Given the description of an element on the screen output the (x, y) to click on. 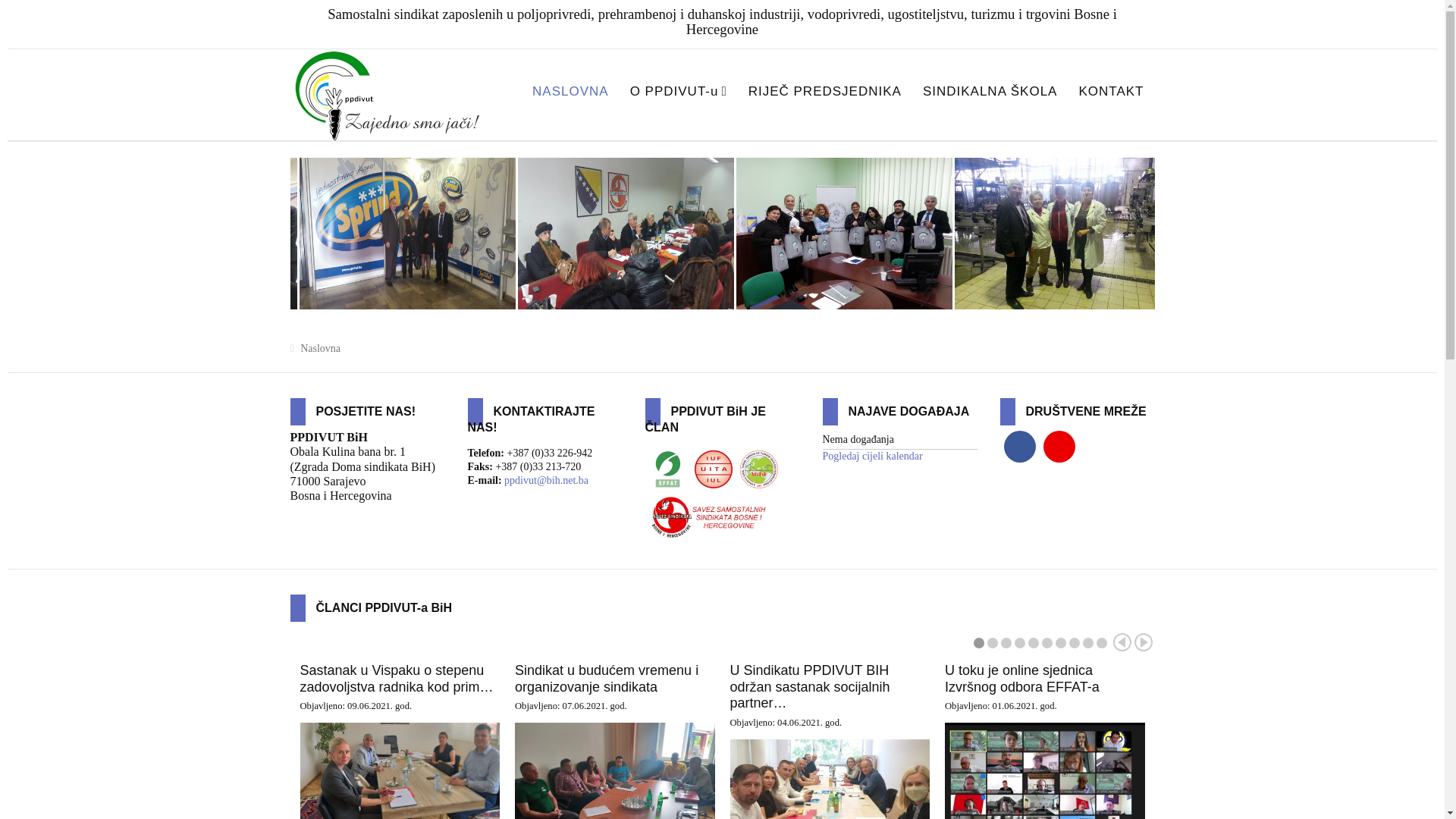
5 Element type: text (1033, 642)
1 Element type: text (978, 642)
Prev Element type: text (1122, 642)
7 Element type: text (1060, 642)
3 Element type: text (1006, 642)
Pogledaj cijeli kalendar Element type: text (872, 455)
9 Element type: text (1087, 642)
KONTAKT Element type: text (1110, 91)
4 Element type: text (1019, 642)
Next Element type: text (1143, 642)
NASLOVNA Element type: text (570, 91)
O PPDIVUT-u Element type: text (678, 91)
8 Element type: text (1074, 642)
ppdivut@bih.net.ba Element type: text (546, 480)
10 Element type: text (1101, 642)
6 Element type: text (1046, 642)
2 Element type: text (992, 642)
